Given the description of an element on the screen output the (x, y) to click on. 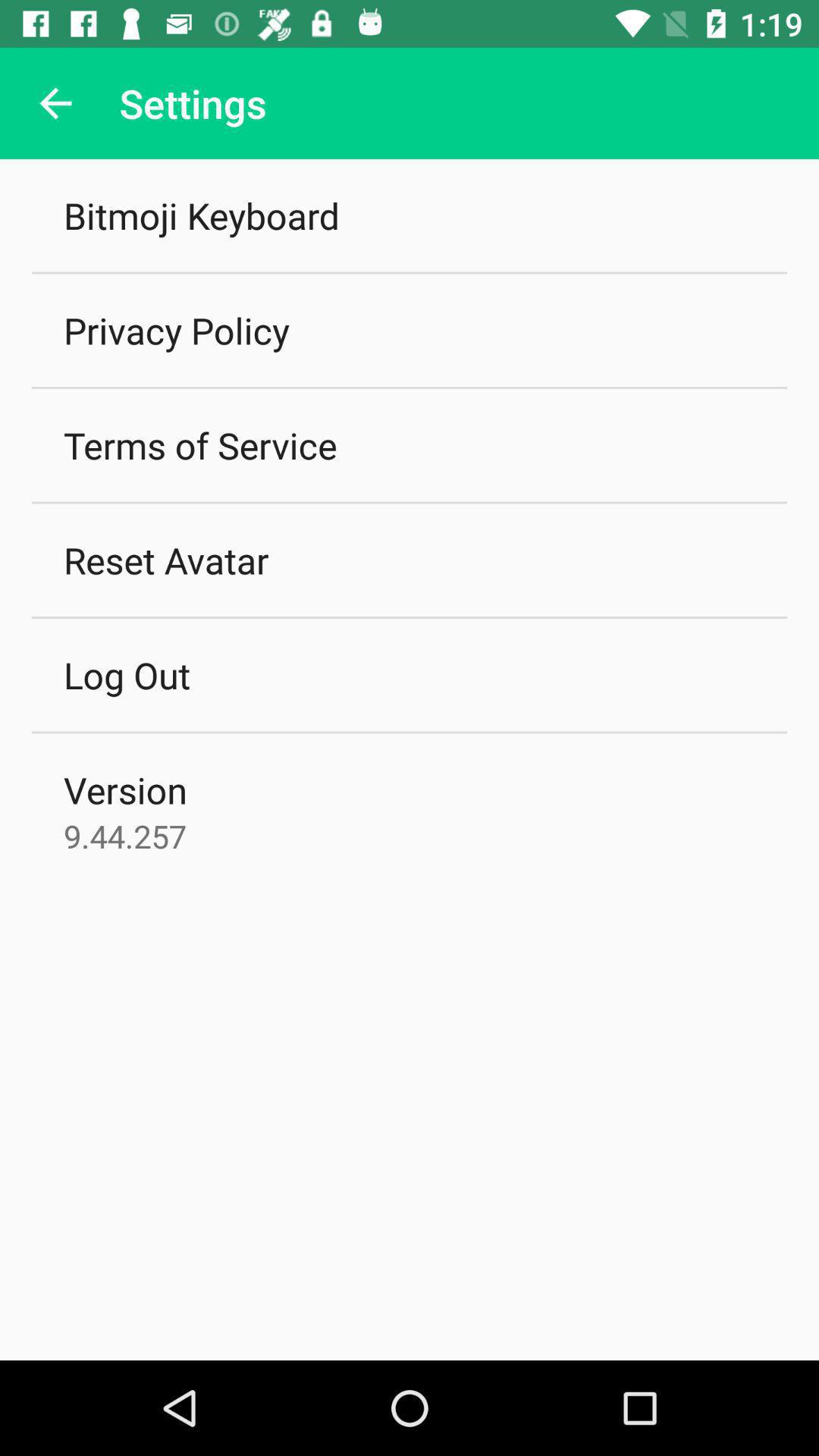
press app next to the settings app (55, 103)
